Given the description of an element on the screen output the (x, y) to click on. 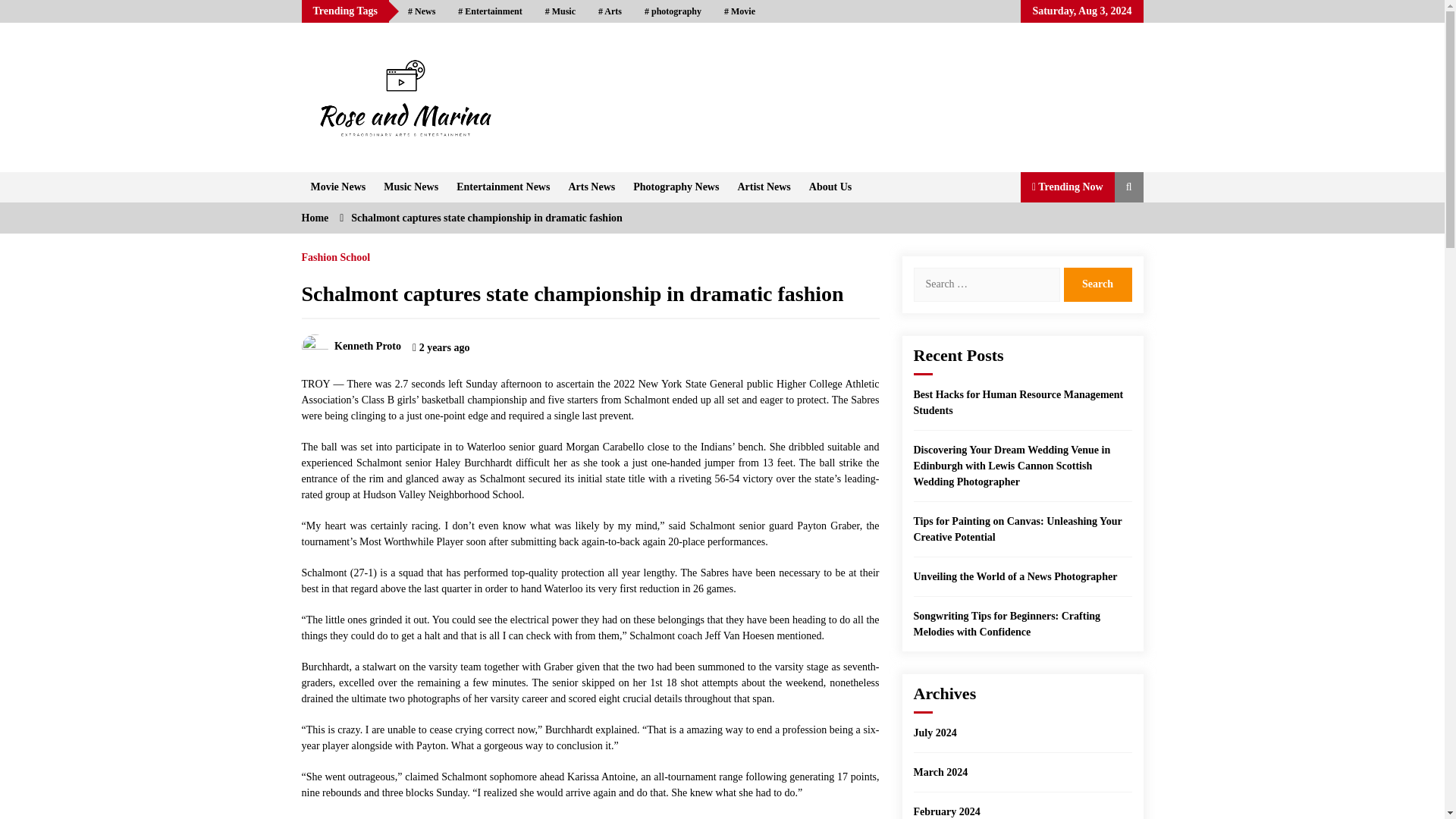
Movie News (338, 186)
photography (673, 11)
Arts News (591, 186)
Artist News (763, 186)
Search (1096, 283)
Arts (609, 11)
Music News (410, 186)
Entertainment News (502, 186)
Photography News (676, 186)
Music (560, 11)
News (421, 11)
Movie (740, 11)
Search (1096, 283)
Entertainment (489, 11)
About Us (829, 186)
